Given the description of an element on the screen output the (x, y) to click on. 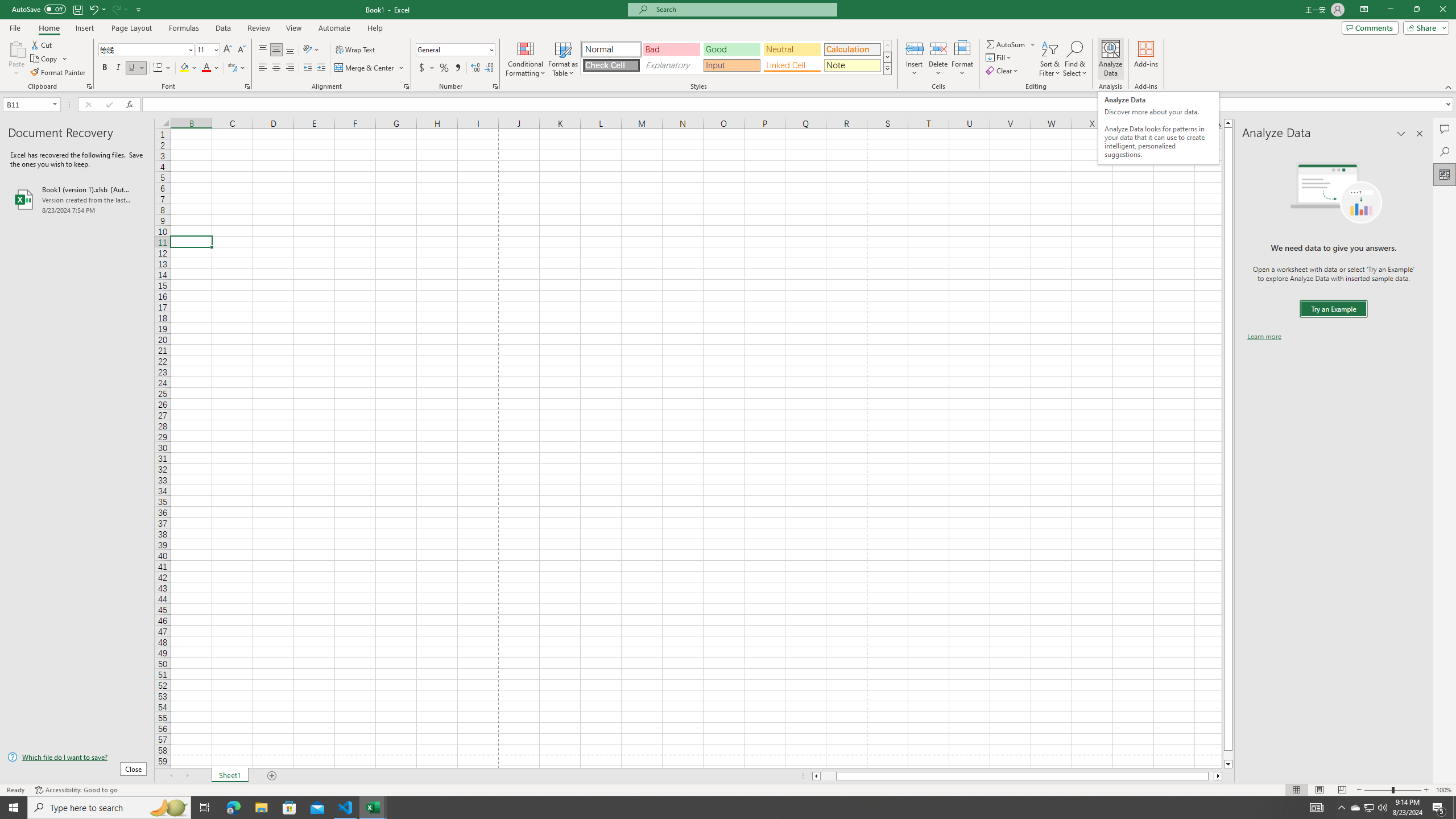
Paste (16, 58)
Font Color RGB(255, 0, 0) (206, 67)
Bold (104, 67)
Zoom In (1426, 790)
System (6, 6)
Column left (815, 775)
Align Right (290, 67)
Scroll Left (171, 775)
AutoSum (1011, 44)
Formulas (184, 28)
Font Color (210, 67)
Minimize (1390, 9)
Show Phonetic Field (231, 67)
Microsoft search (742, 9)
